Given the description of an element on the screen output the (x, y) to click on. 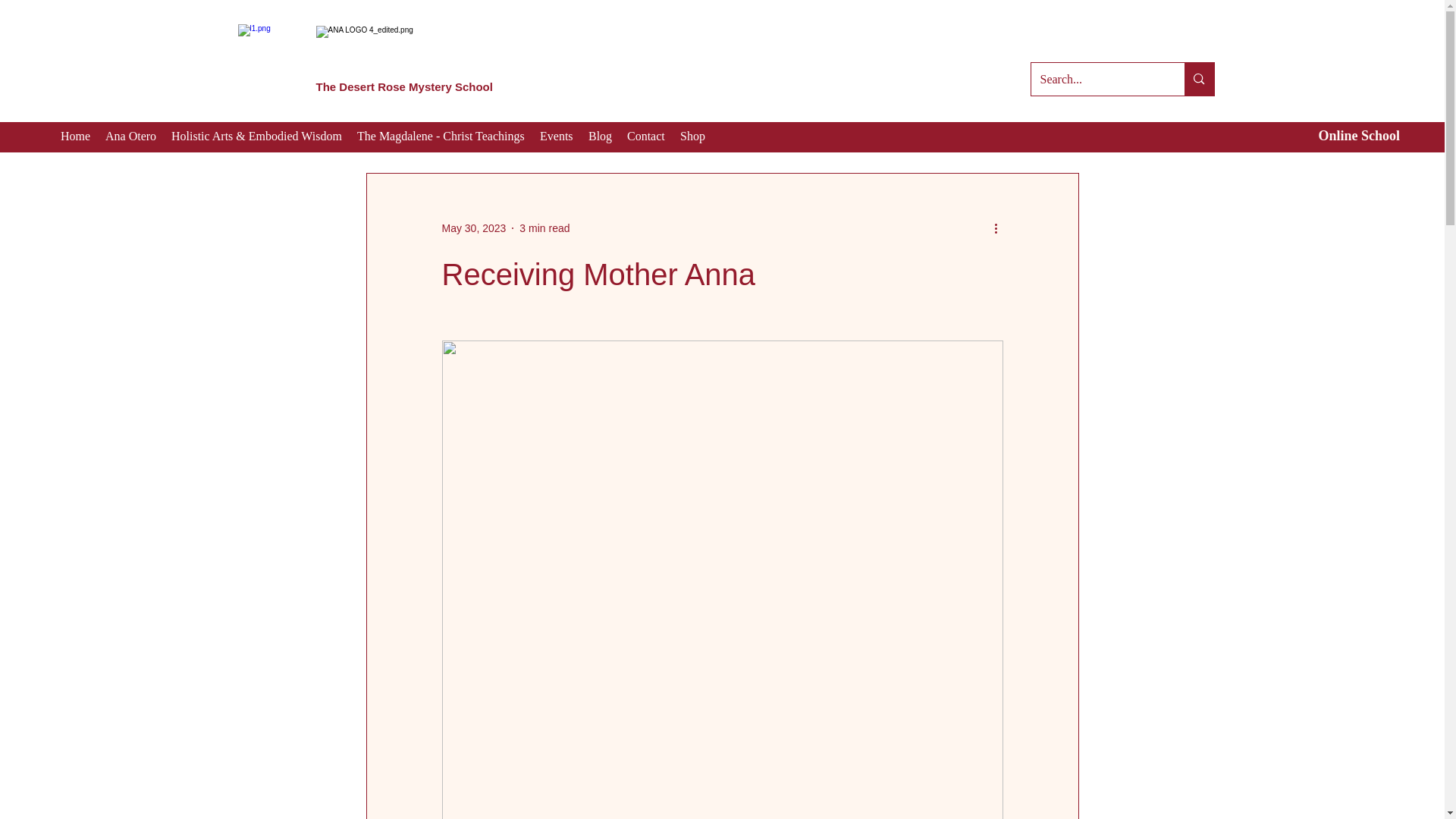
3 min read (544, 227)
Online School (1358, 135)
Home (74, 136)
The Magdalene - Christ Teachings (440, 136)
Ana Otero (130, 136)
Blog (600, 136)
Events (556, 136)
May 30, 2023 (473, 227)
The Desert Rose Mystery School (403, 86)
Shop (692, 136)
